Given the description of an element on the screen output the (x, y) to click on. 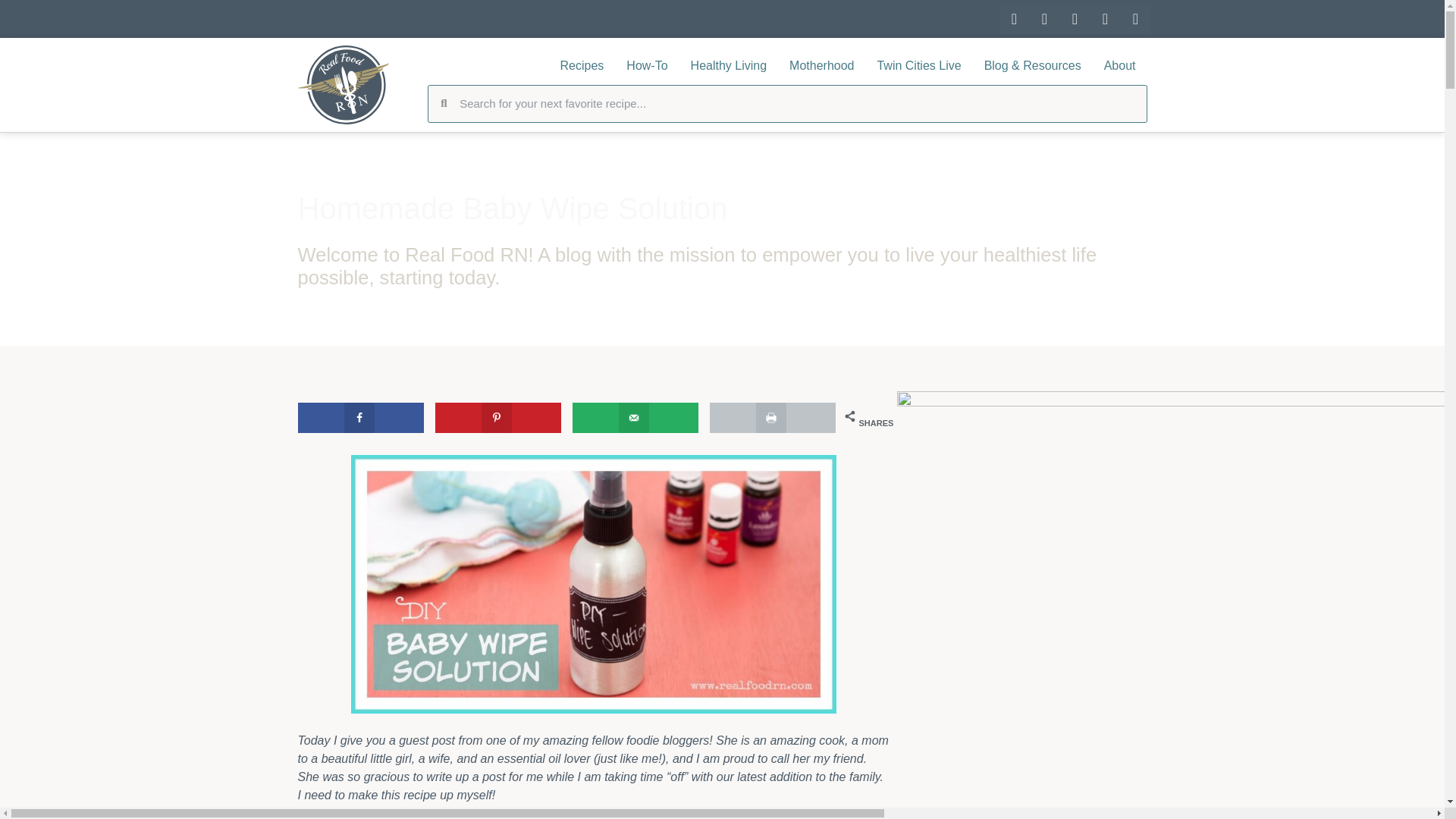
Twin Cities Live (918, 65)
Save to Pinterest (498, 417)
Healthy Living (728, 65)
About (1120, 65)
Send over email (635, 417)
Print this webpage (772, 417)
How-To (646, 65)
Share on Facebook (360, 417)
Motherhood (820, 65)
Recipes (581, 65)
